Given the description of an element on the screen output the (x, y) to click on. 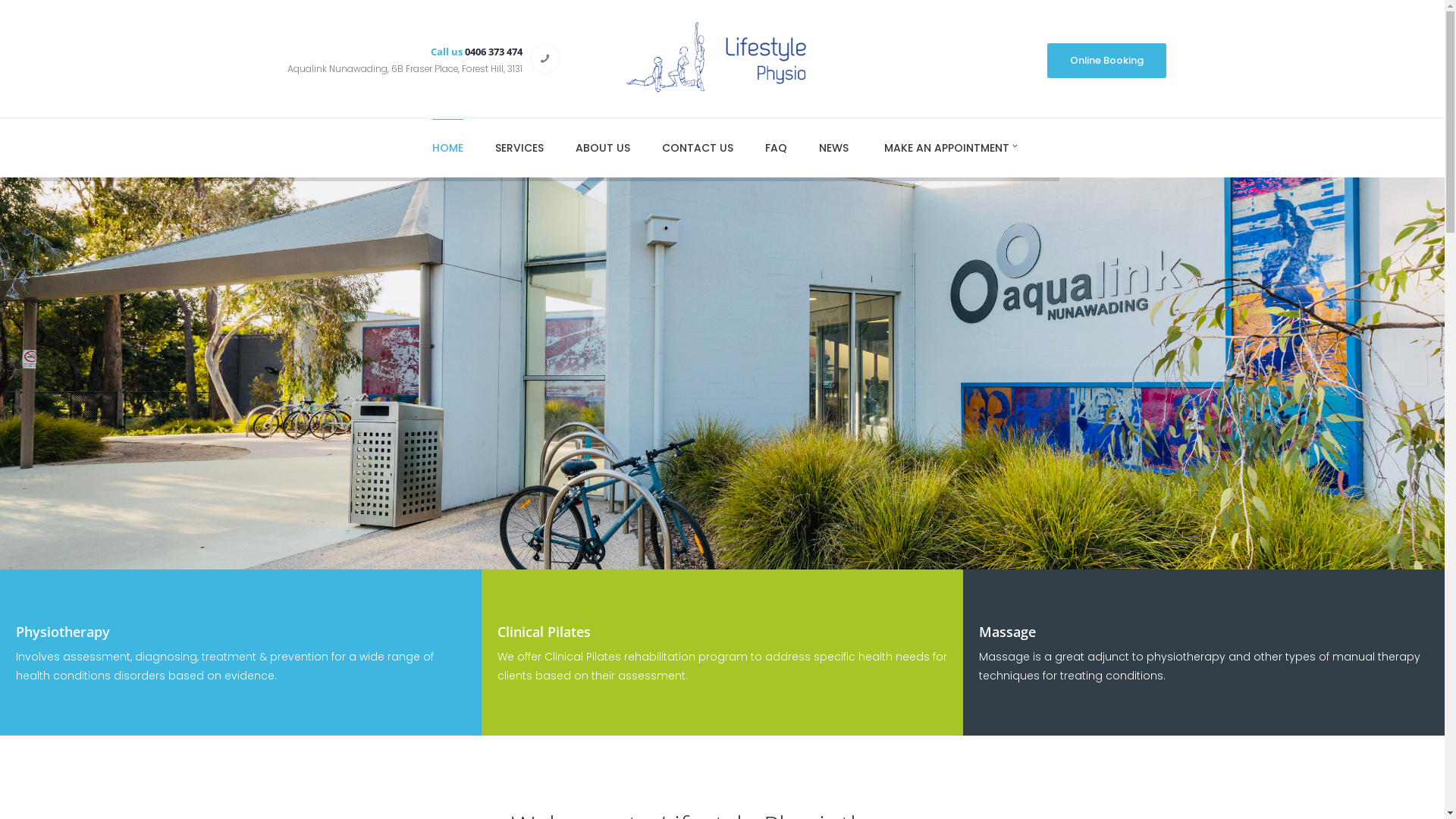
MAKE AN APPOINTMENT Element type: text (945, 144)
HOME Element type: text (447, 144)
FAQ Element type: text (776, 144)
CONTACT US Element type: text (697, 144)
SERVICES Element type: text (519, 144)
Physiotherapy Element type: text (62, 631)
Online Booking Element type: text (1106, 60)
0406 373 474 Element type: text (493, 51)
Clinical Pilates Element type: text (543, 631)
ABOUT US Element type: text (602, 144)
Massage Element type: text (1007, 631)
NEWS Element type: text (833, 144)
